Given the description of an element on the screen output the (x, y) to click on. 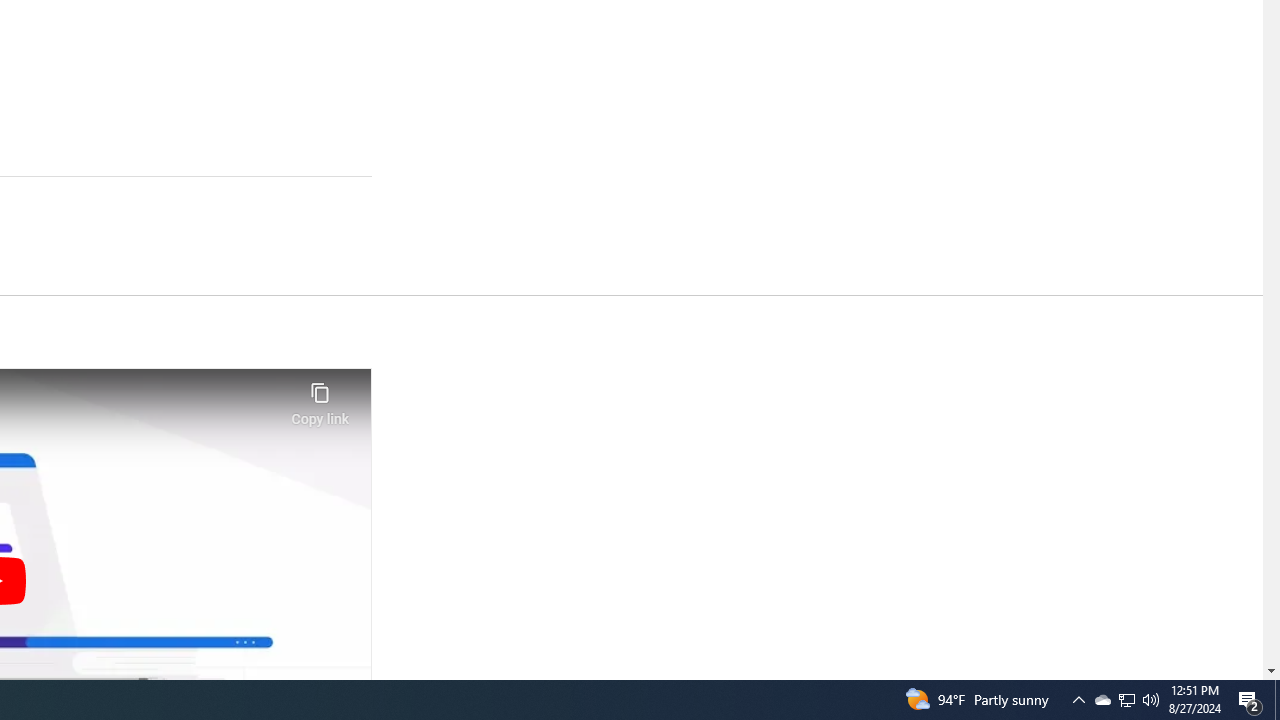
Copy link (319, 398)
